Given the description of an element on the screen output the (x, y) to click on. 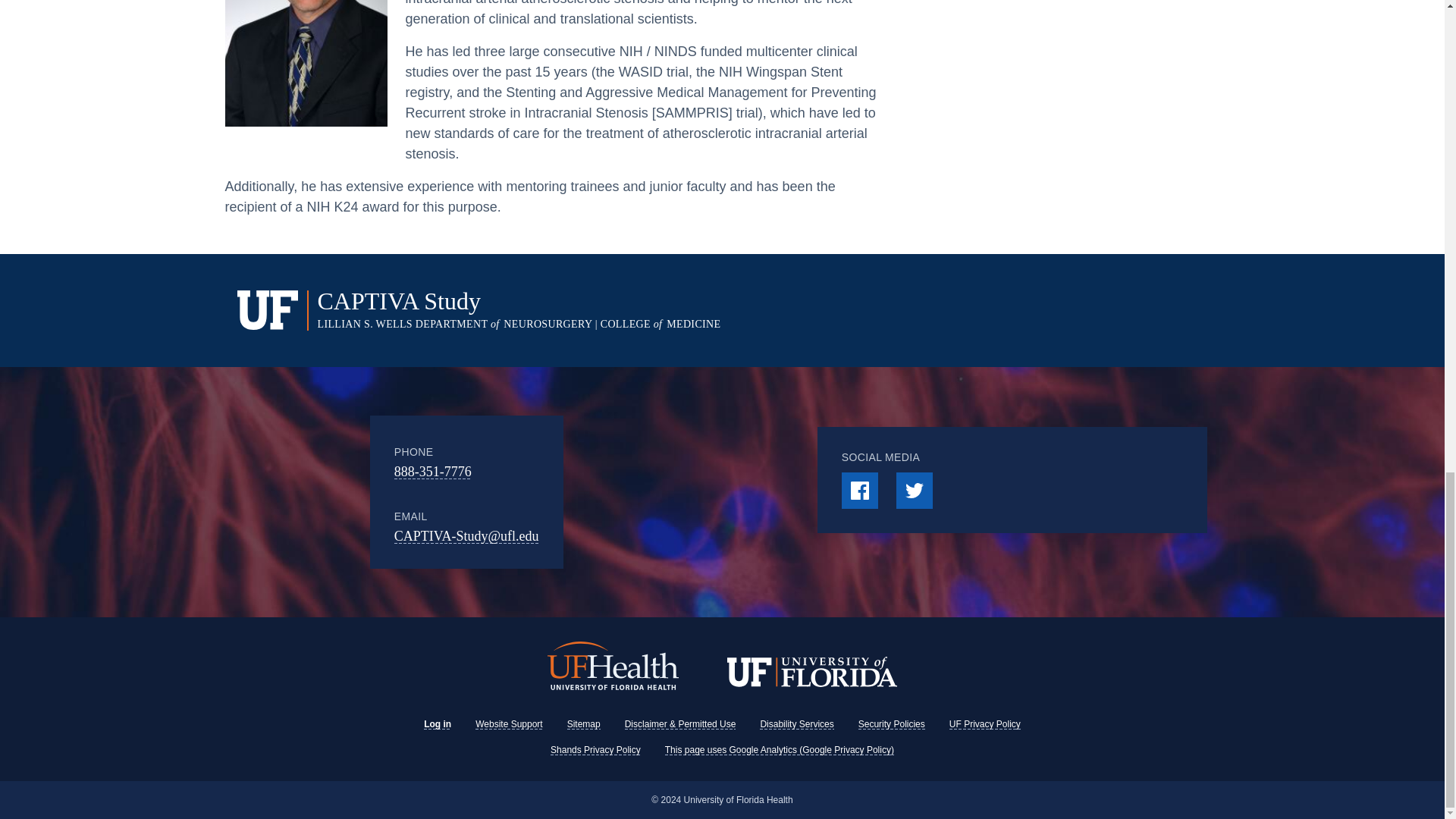
Disability Services (796, 724)
UF Privacy Policy (984, 724)
Website Support (509, 724)
Shands Privacy Policy (595, 749)
888-351-7776 (432, 471)
UF Privacy Policy (984, 724)
Security Policies (891, 724)
Twitter (914, 490)
Log in (437, 724)
Disability Services (796, 724)
Security Policies (891, 724)
Log in (437, 724)
Facebook (859, 490)
University of Florida Health - Home (612, 667)
University of Florida - Home (811, 673)
